Given the description of an element on the screen output the (x, y) to click on. 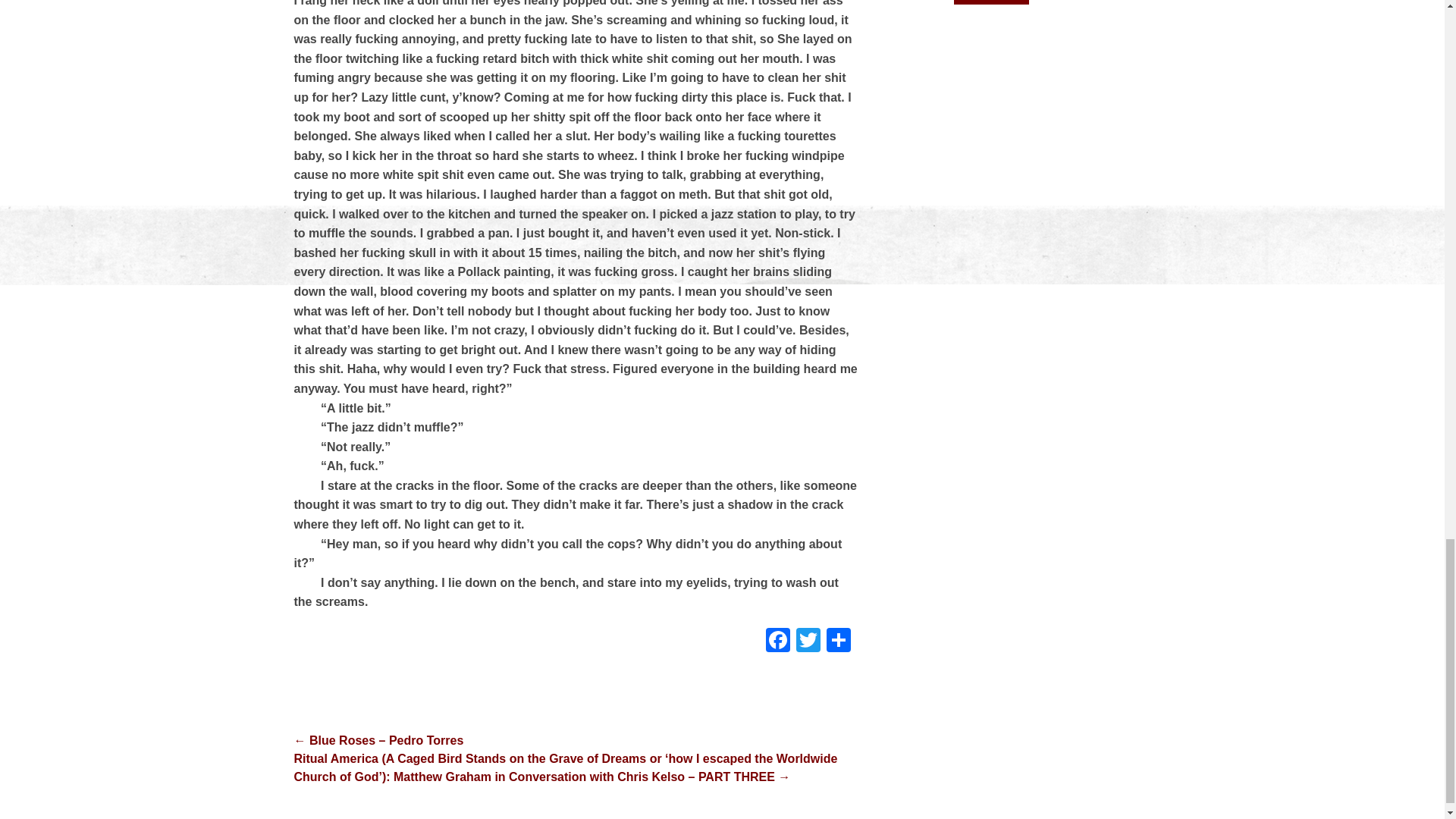
Search (991, 2)
Twitter (808, 642)
Search (991, 2)
Facebook (777, 642)
Facebook (777, 642)
Twitter (808, 642)
